Given the description of an element on the screen output the (x, y) to click on. 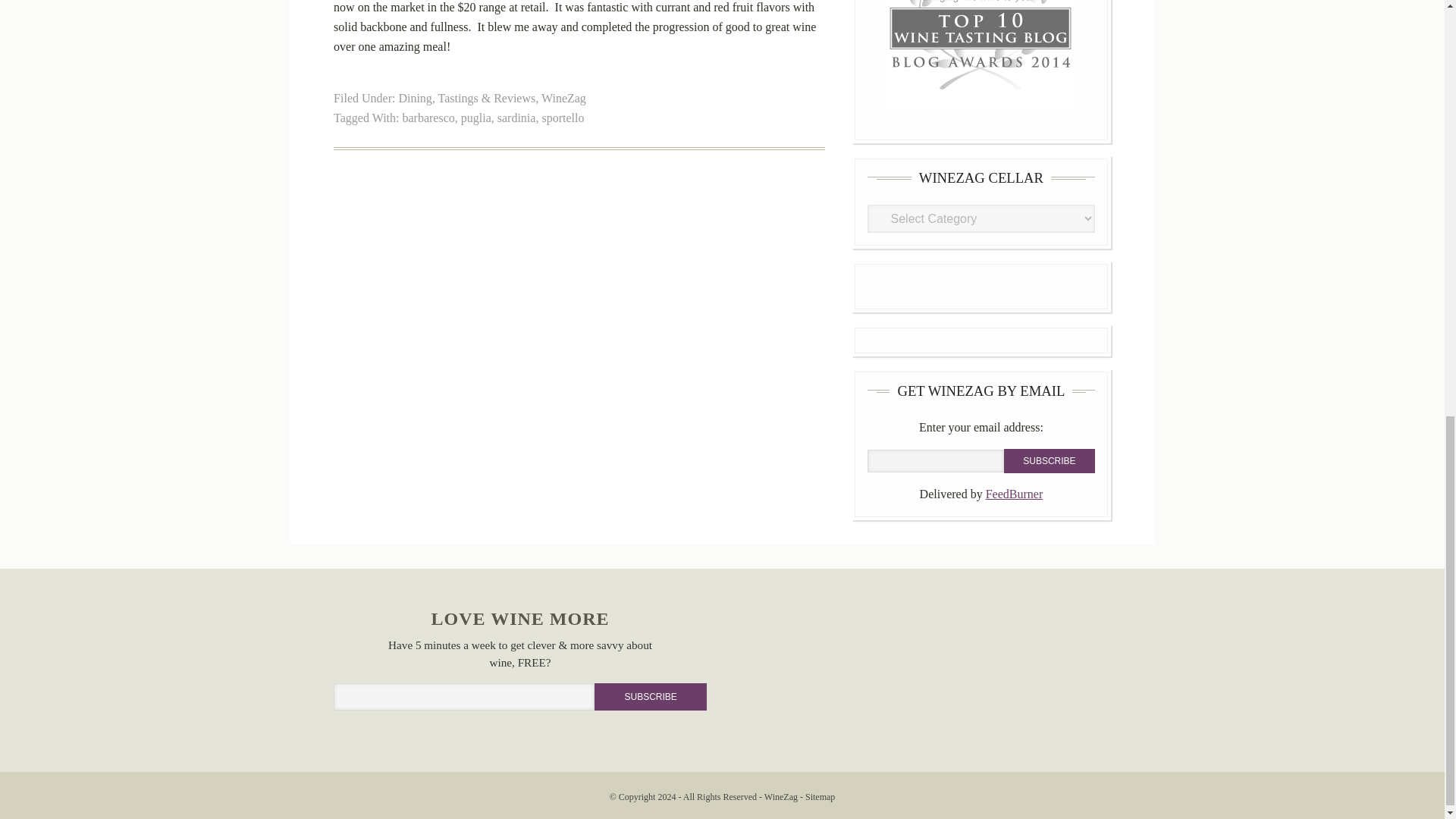
Dining (413, 97)
Subscribe (650, 696)
FeedBurner (1014, 493)
WineZag (780, 796)
Subscribe (1049, 460)
sardinia (516, 117)
Subscribe (1049, 460)
sportello (562, 117)
WineZag (563, 97)
Sitemap (819, 796)
Subscribe (650, 696)
puglia (476, 117)
barbaresco (427, 117)
